Given the description of an element on the screen output the (x, y) to click on. 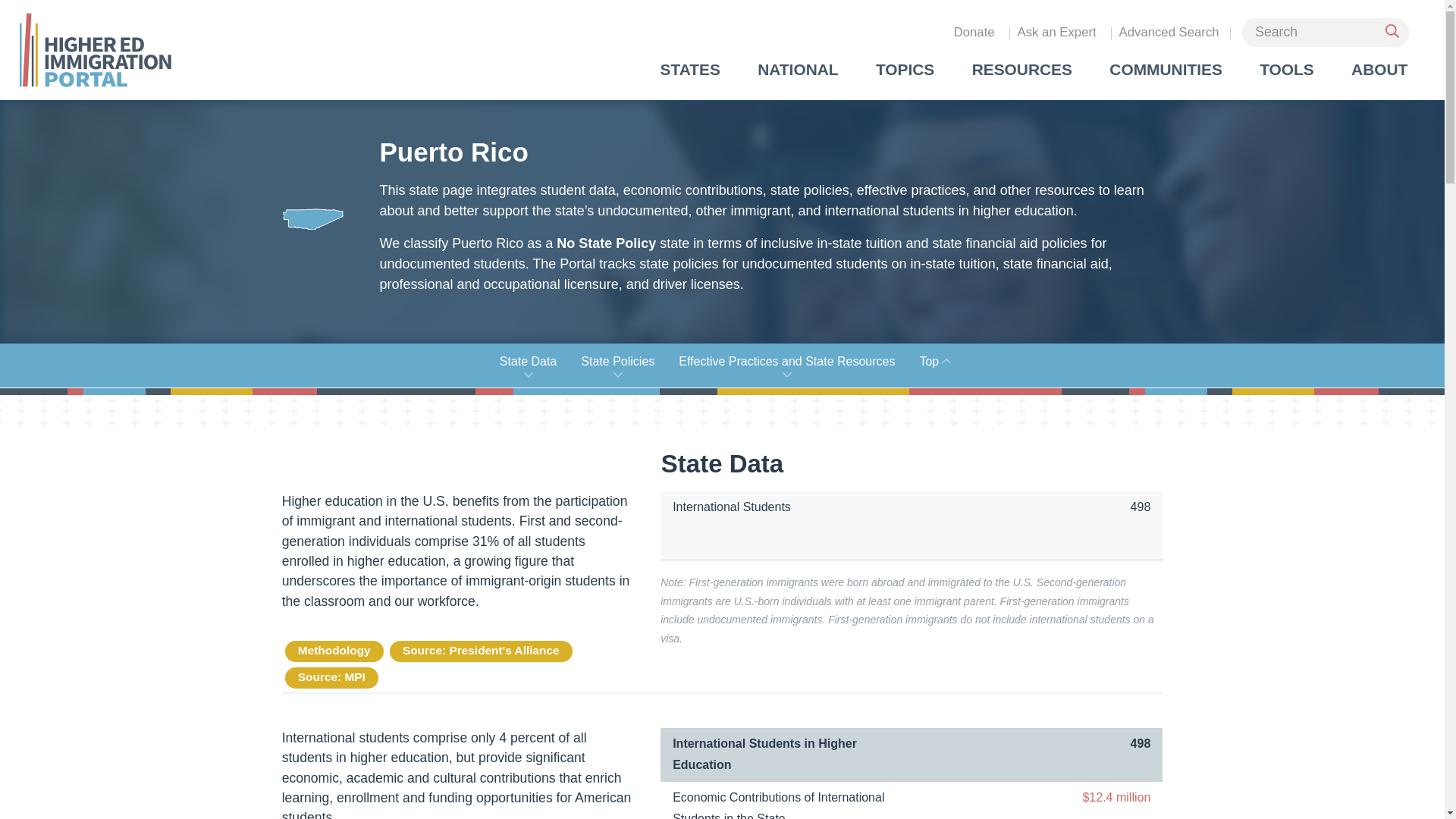
Ask an Expert (1056, 32)
COMMUNITIES (1166, 69)
TOPICS (905, 69)
NATIONAL (798, 69)
RESOURCES (1022, 69)
Advanced Search (1168, 32)
TOOLS (1286, 69)
STATES (689, 69)
ABOUT (1380, 69)
Search for: (1325, 32)
Donate (973, 32)
